Given the description of an element on the screen output the (x, y) to click on. 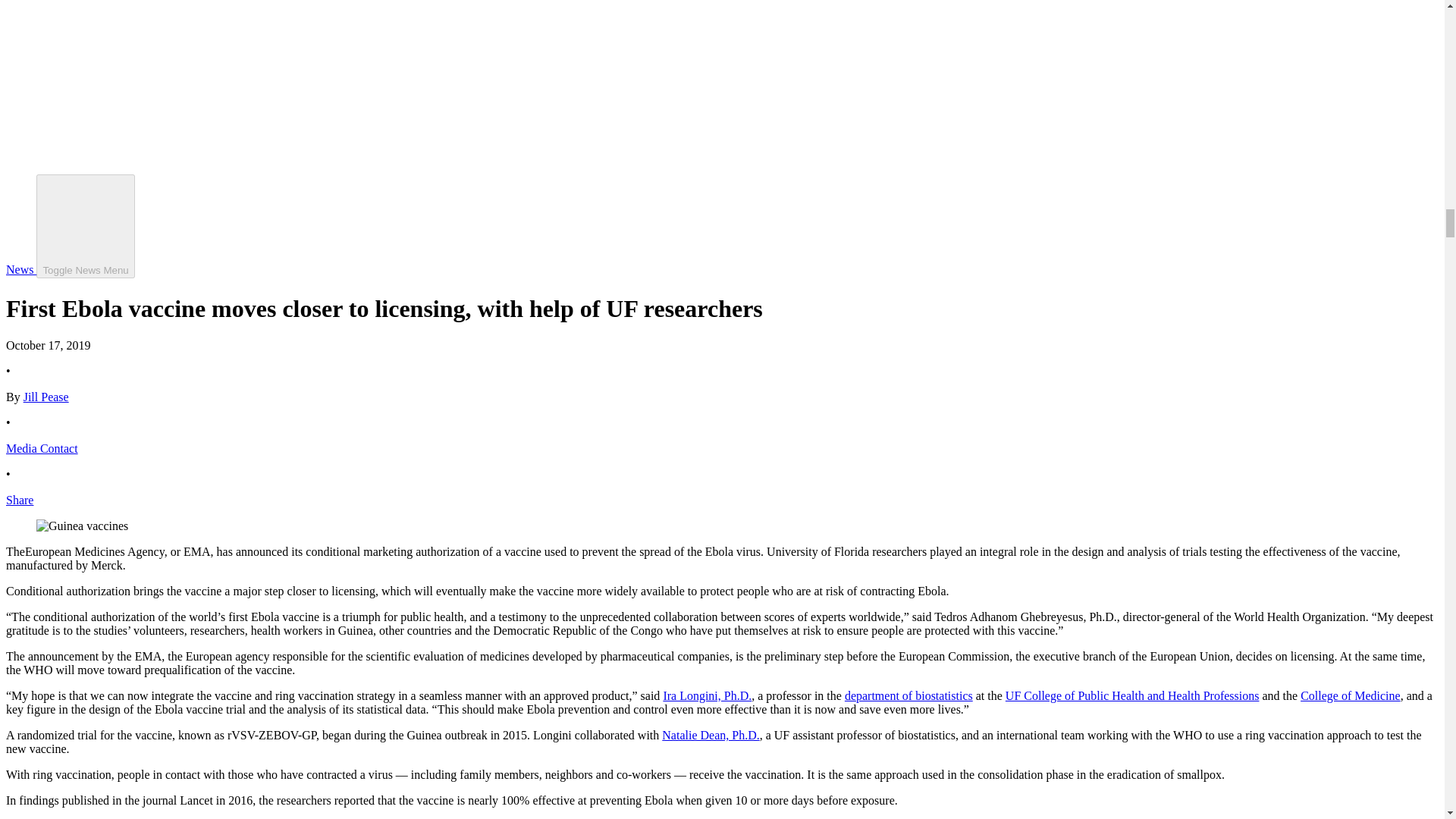
Share (19, 499)
Jill Pease (45, 396)
College of Medicine (1350, 695)
UF College of Public Health and Health Professions (1132, 695)
Media Contact (41, 448)
Toggle News Menu (84, 226)
department of biostatistics (908, 695)
Ira Longini, Ph.D. (706, 695)
Natalie Dean, Ph.D. (710, 735)
